Given the description of an element on the screen output the (x, y) to click on. 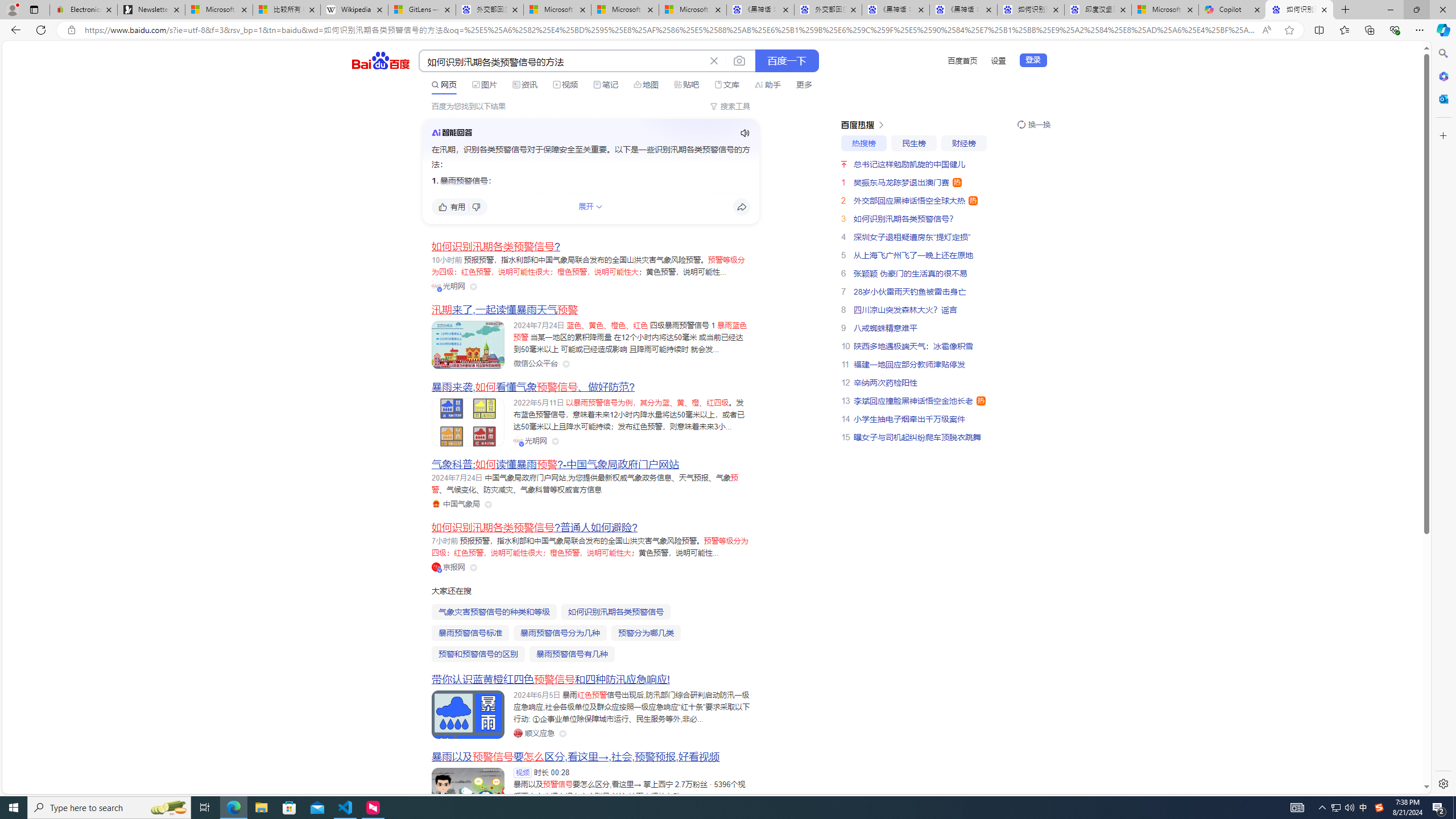
Newsletter Sign Up (150, 9)
